Given the description of an element on the screen output the (x, y) to click on. 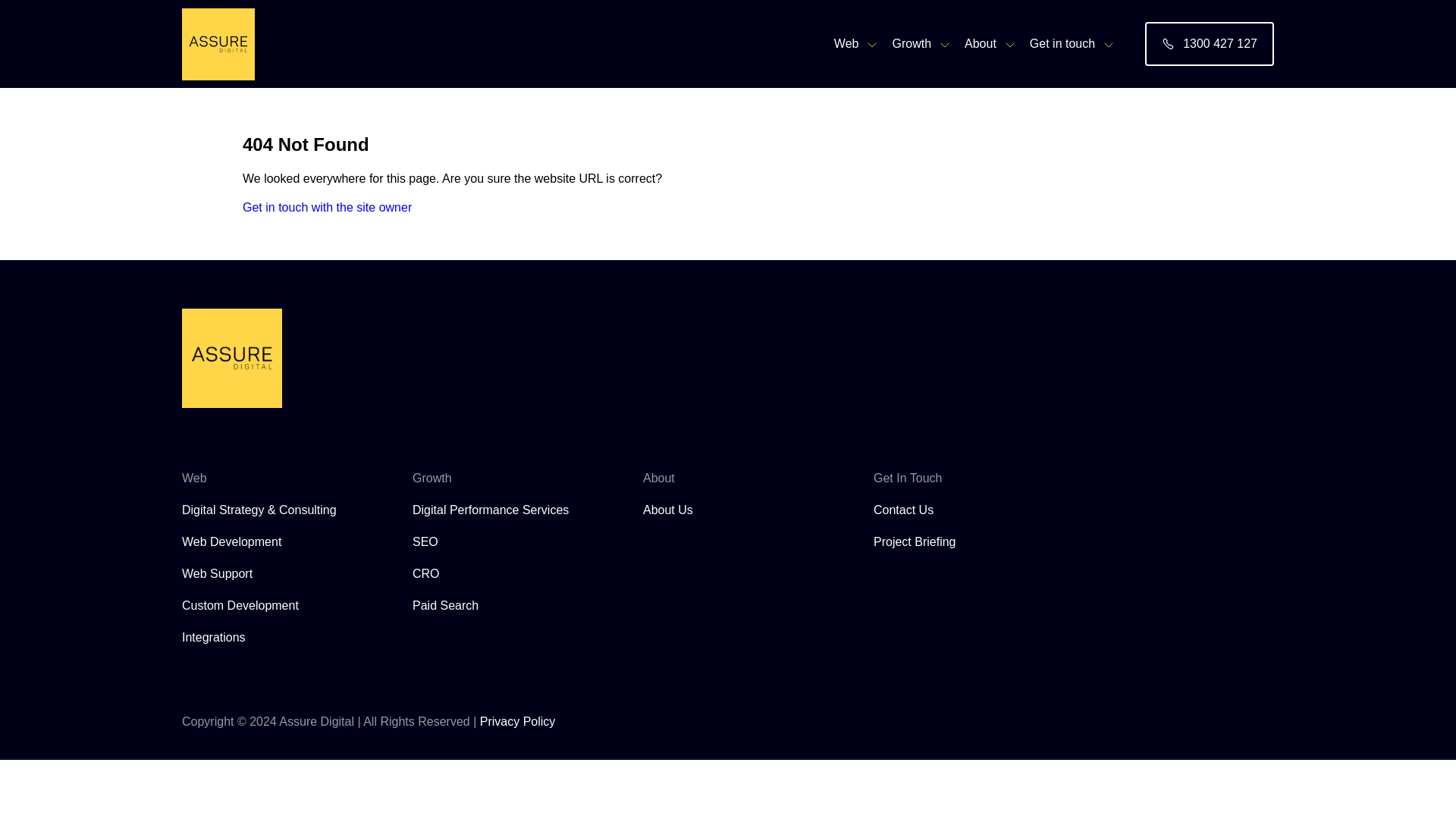
Web (856, 43)
Custom Development (240, 604)
Digital Performance Services (490, 509)
About (989, 43)
About Us (668, 509)
Web Development (231, 541)
Project Briefing (914, 541)
1300 427 127 (1209, 44)
Growth (919, 43)
SEO (425, 541)
